Given the description of an element on the screen output the (x, y) to click on. 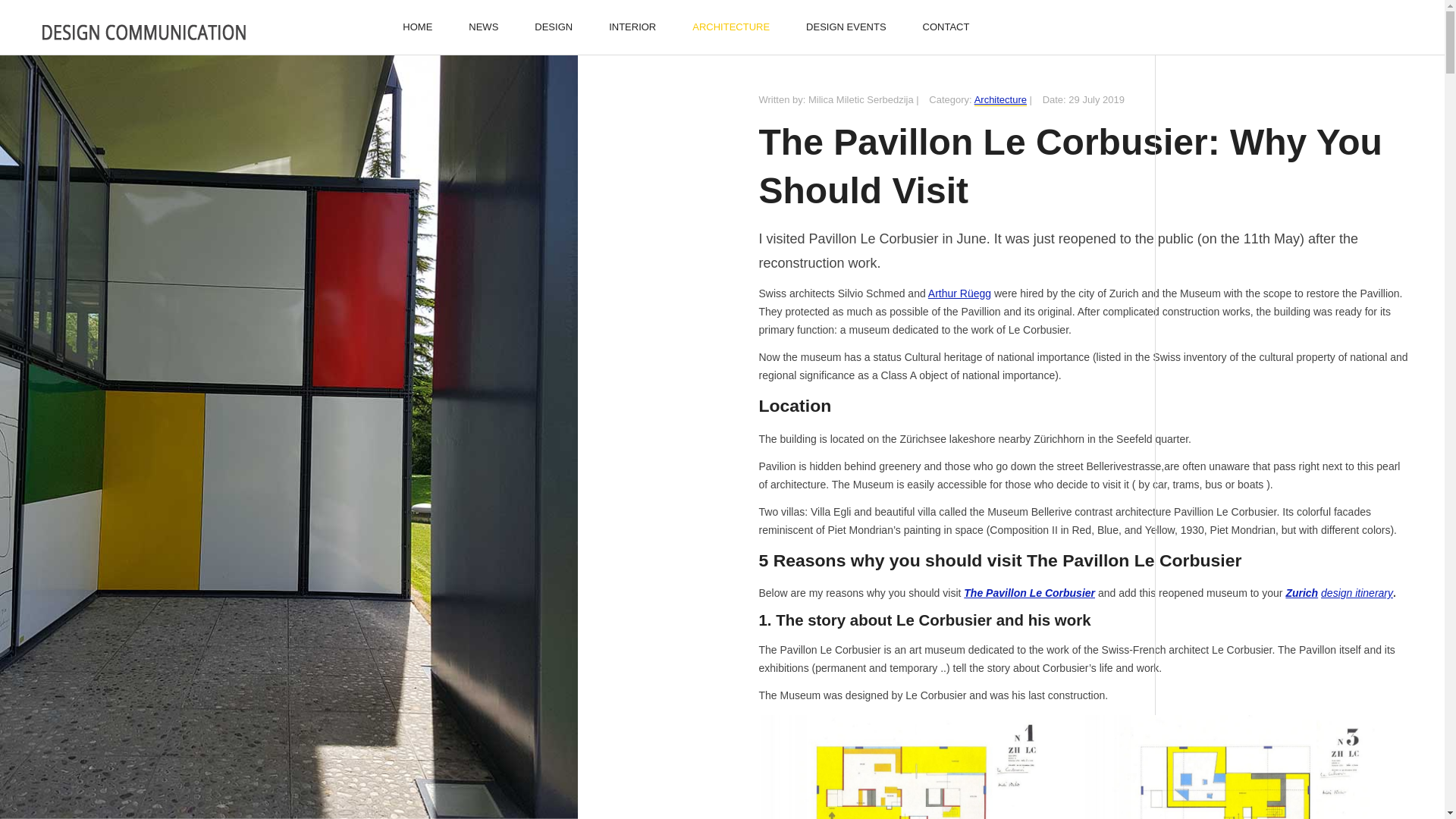
The Pavillon Le Corbusier (1028, 592)
ARCHITECTURE (730, 27)
HOME (416, 27)
Zurich (1301, 592)
DESIGN (553, 27)
Architecture (1000, 100)
DESIGN EVENTS (845, 27)
design itinerary (1356, 592)
NEWS (482, 27)
CONTACT (946, 27)
